Given the description of an element on the screen output the (x, y) to click on. 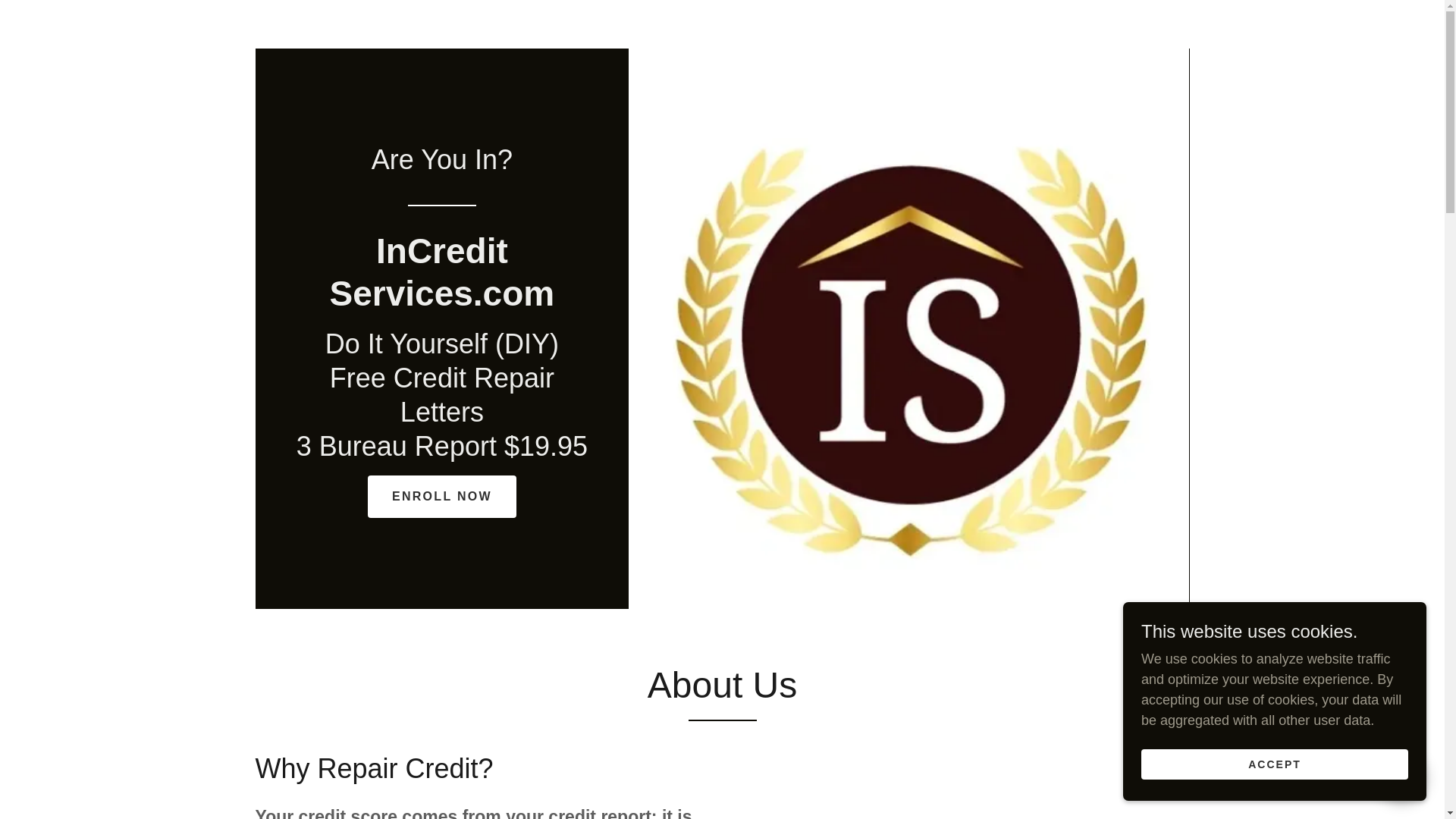
ENROLL NOW (442, 496)
InCredit Services.com (441, 300)
InCredit Services.com (441, 300)
ACCEPT (1274, 764)
